Given the description of an element on the screen output the (x, y) to click on. 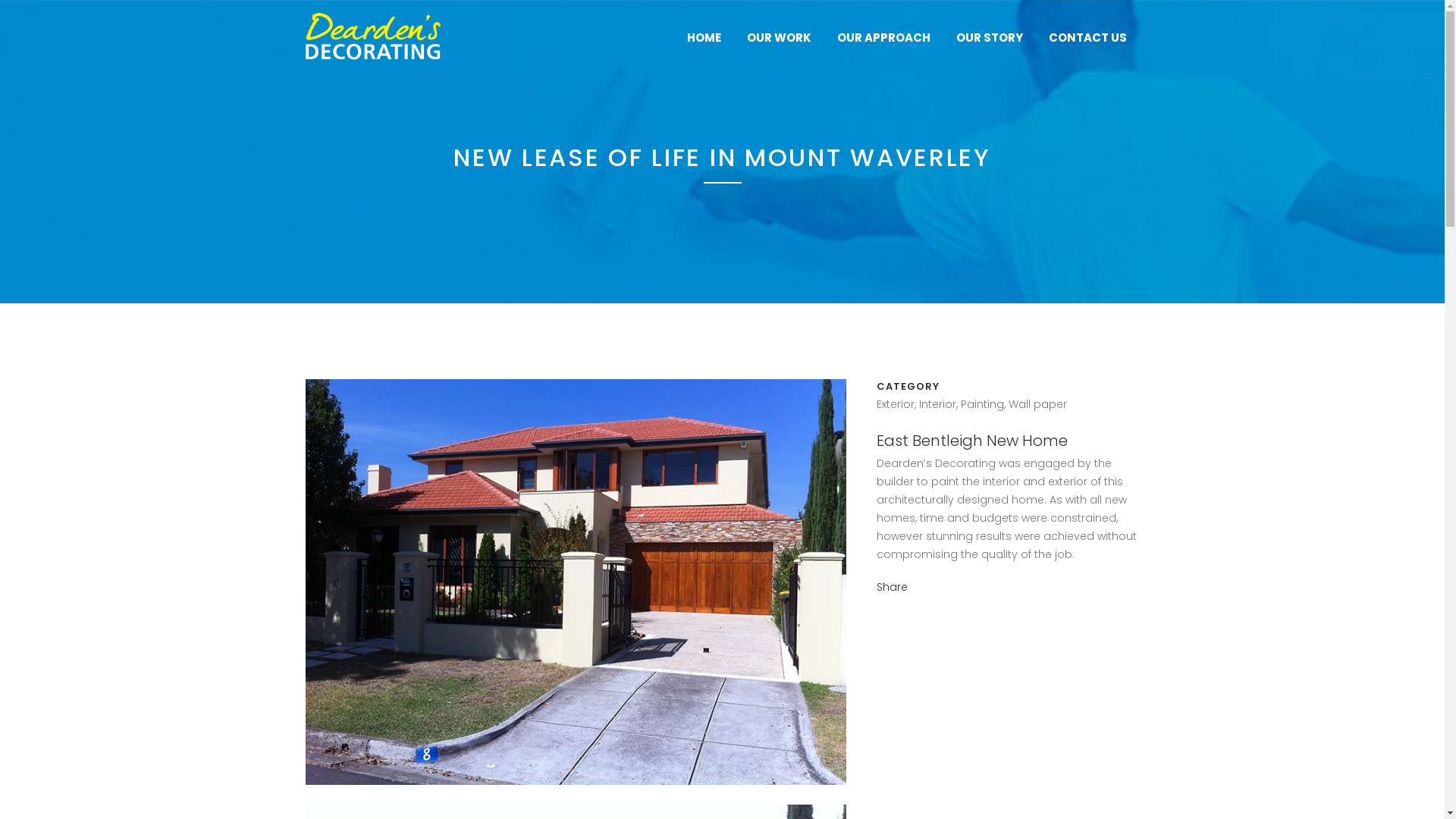
OUR STORY Element type: text (989, 37)
HOME Element type: text (703, 37)
CONTACT US Element type: text (1087, 37)
OUR WORK Element type: text (779, 37)
OUR APPROACH Element type: text (882, 37)
Share Element type: text (891, 586)
